Given the description of an element on the screen output the (x, y) to click on. 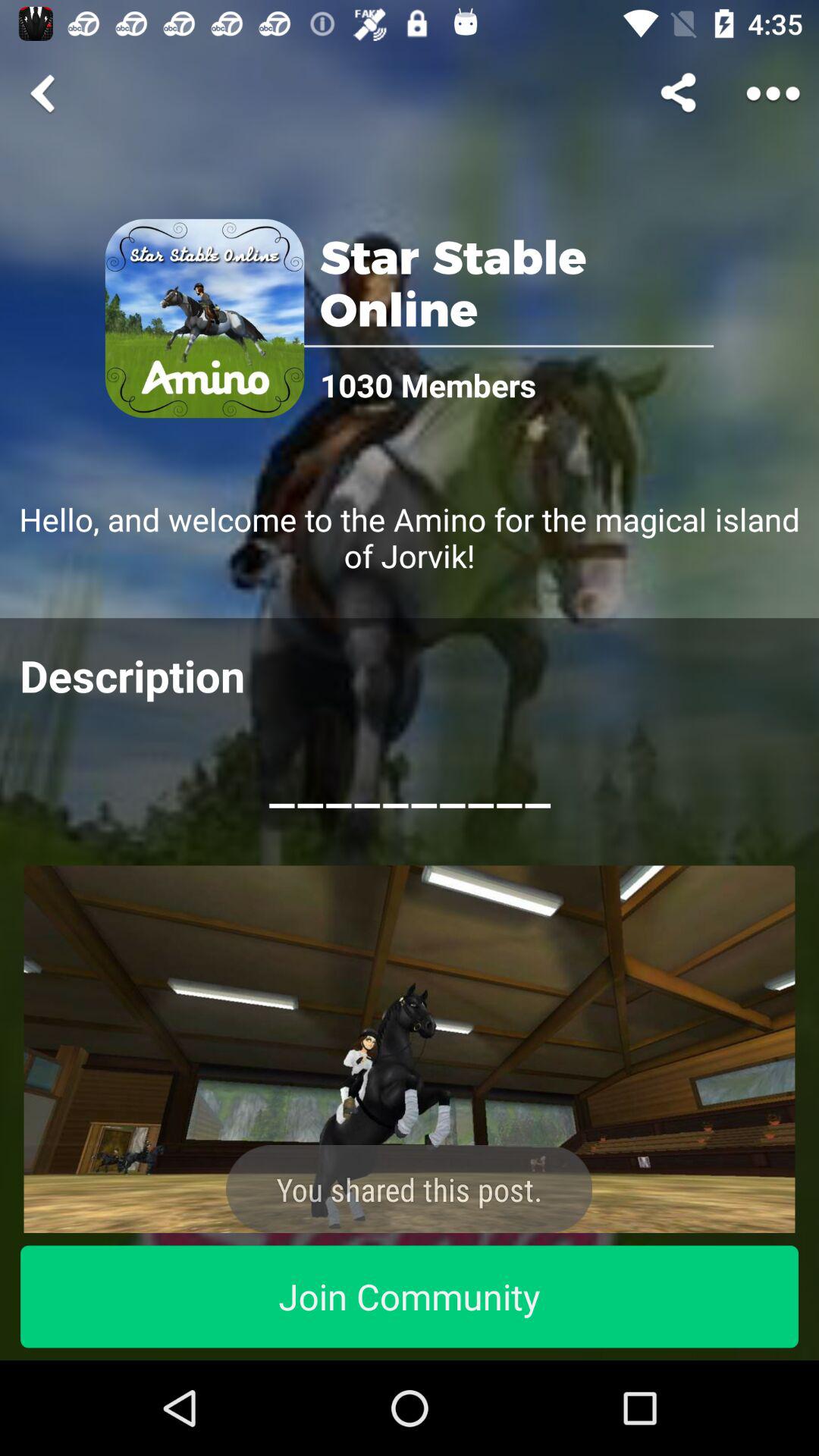
more options (773, 93)
